Given the description of an element on the screen output the (x, y) to click on. 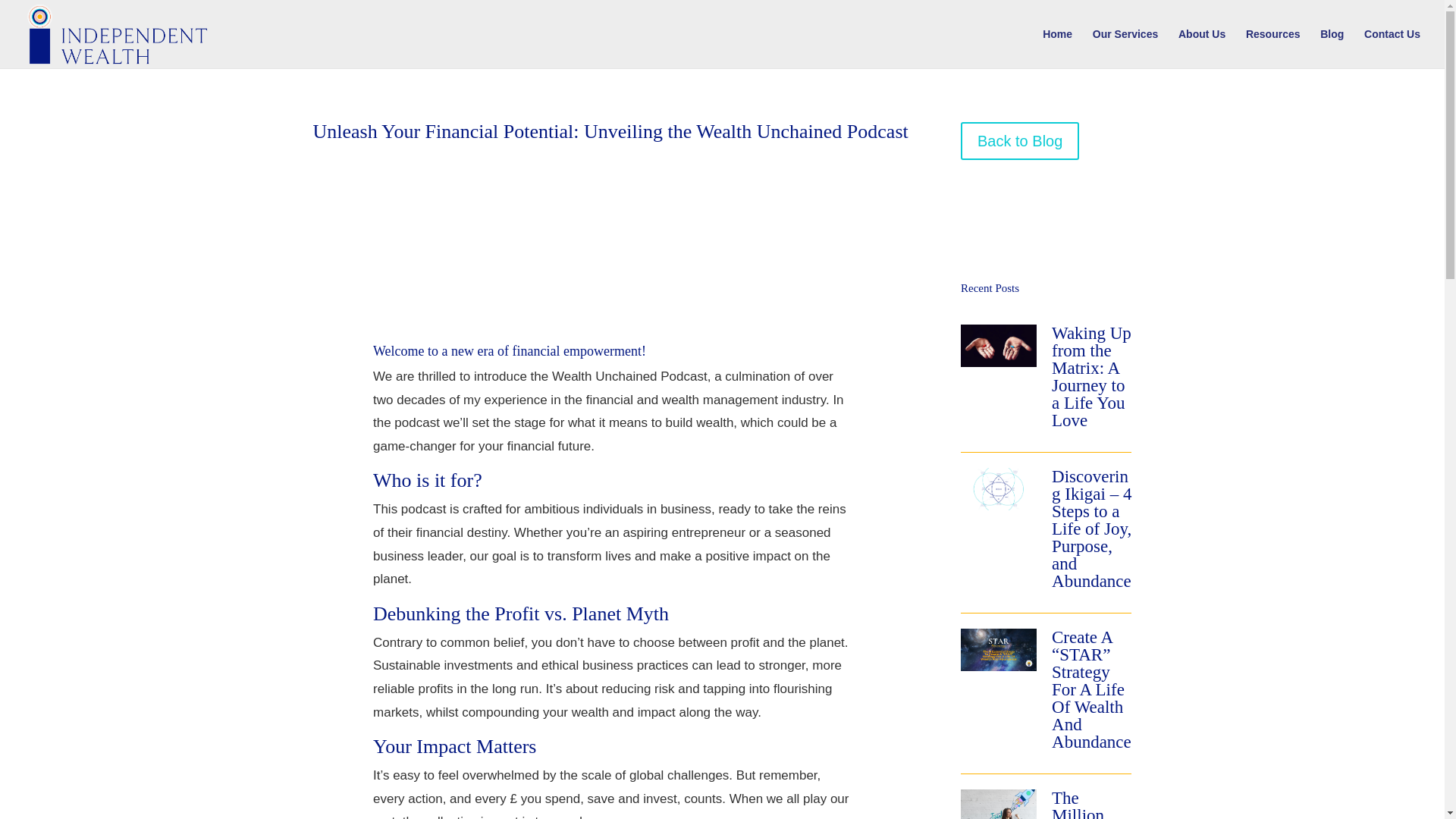
Back to Blog (1019, 140)
Home (1056, 47)
About Us (1201, 47)
Our Services (1125, 47)
Waking Up from the Matrix: A Journey to a Life You Love (1091, 376)
Blog (1331, 47)
Contact Us (1392, 47)
Resources (1273, 47)
